Given the description of an element on the screen output the (x, y) to click on. 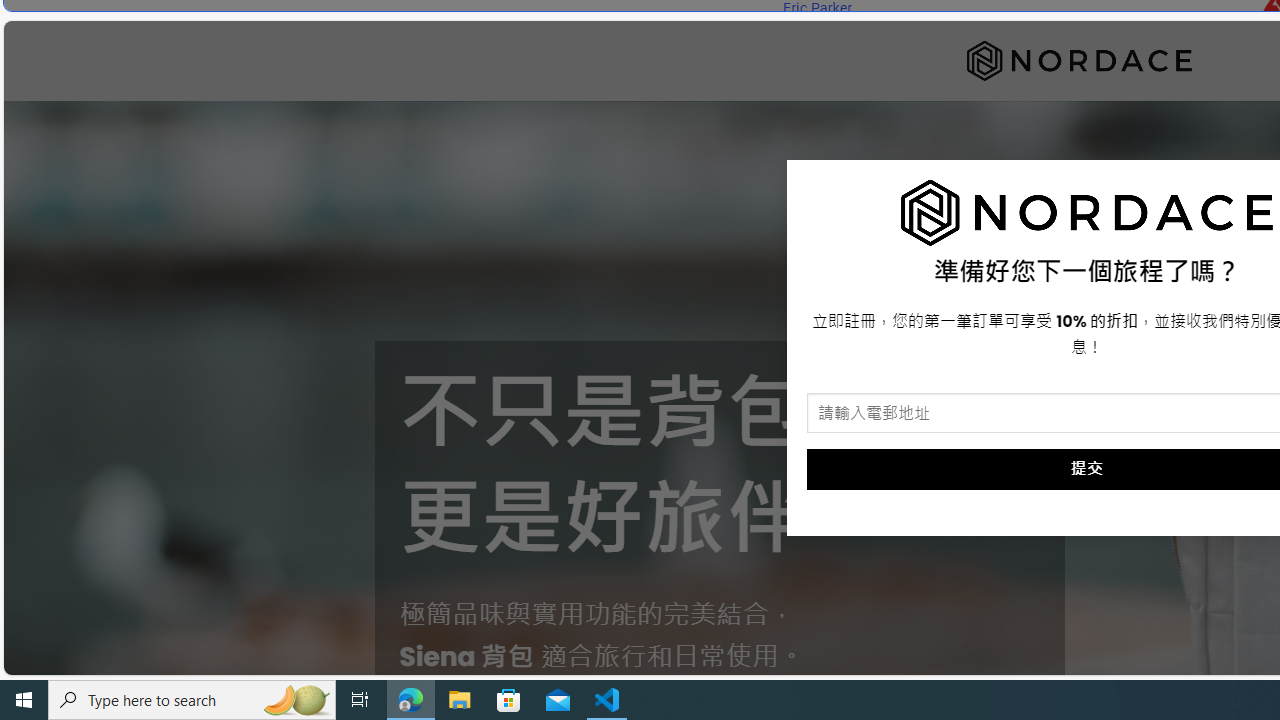
Eric Parker (817, 8)
